Given the description of an element on the screen output the (x, y) to click on. 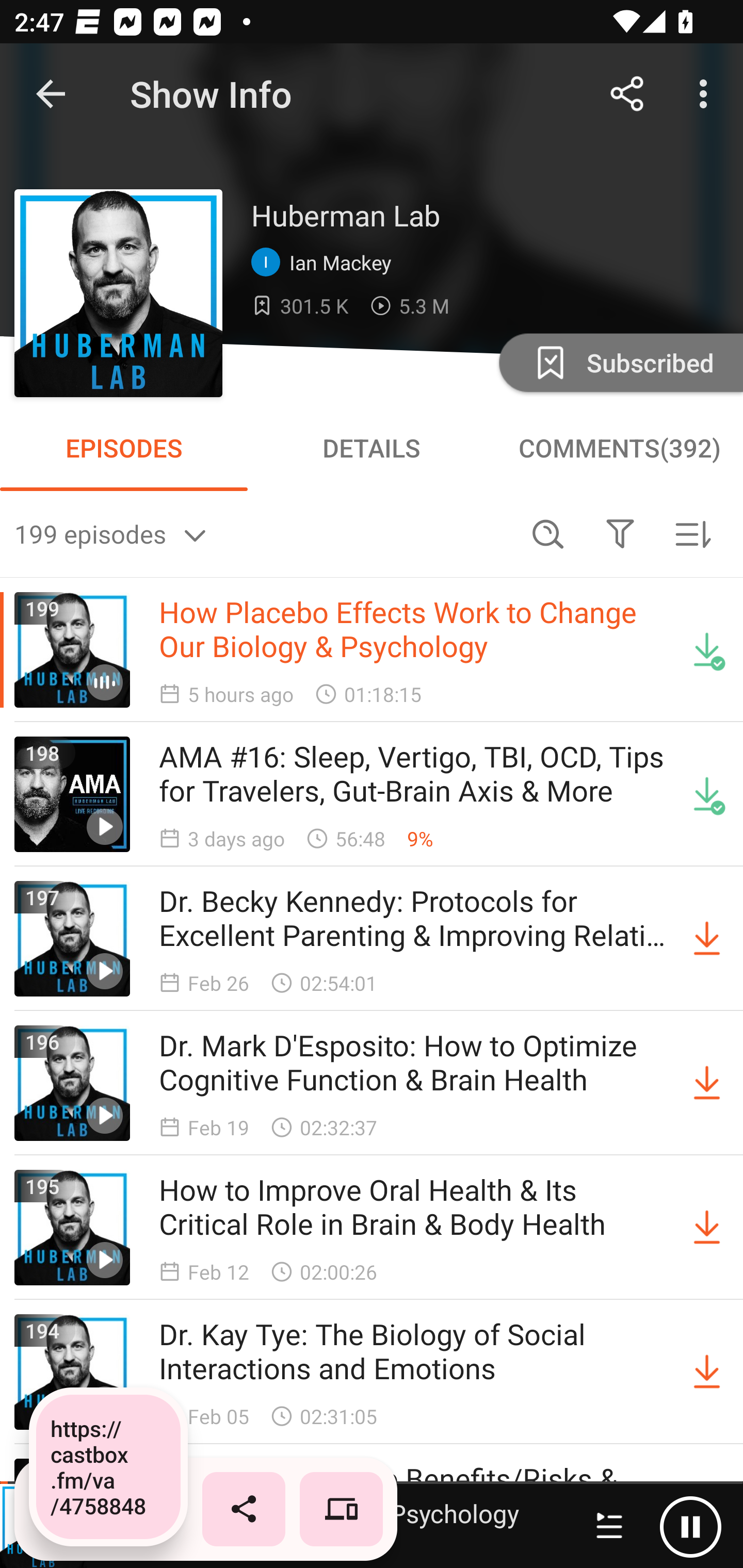
Navigate up (50, 93)
Share (626, 93)
More options (706, 93)
Ian Mackey (326, 262)
Unsubscribe Subscribed (619, 361)
EPISODES (123, 447)
DETAILS (371, 447)
COMMENTS(392) (619, 447)
199 episodes  (262, 533)
 Search (547, 533)
 (619, 533)
 Sorted by newest first (692, 533)
Downloaded (706, 649)
Downloaded (706, 793)
Download (706, 939)
Download (706, 1083)
Download (706, 1227)
Download (706, 1371)
Pause (690, 1526)
